Given the description of an element on the screen output the (x, y) to click on. 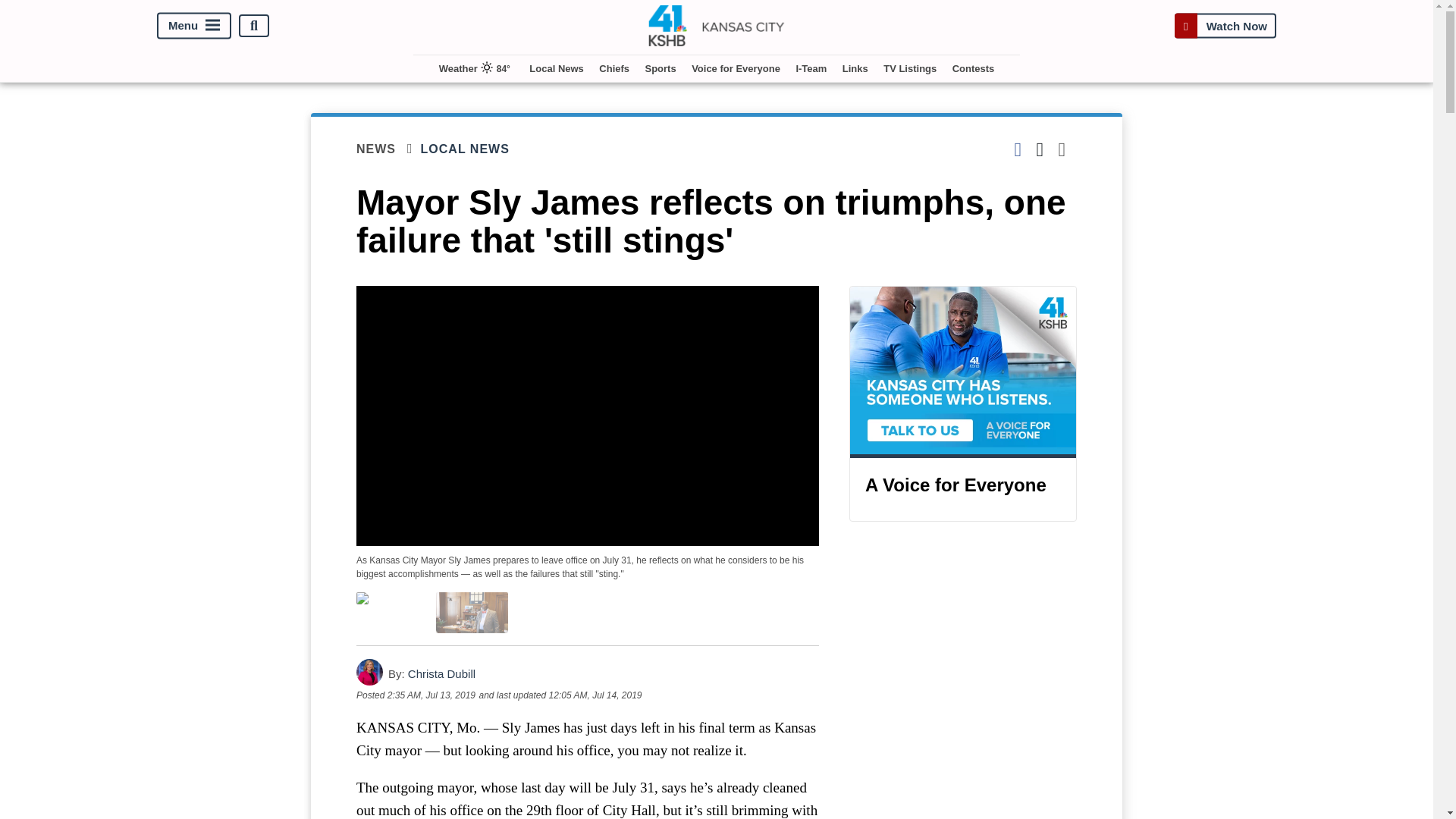
Menu (194, 26)
Watch Now (1224, 25)
